Given the description of an element on the screen output the (x, y) to click on. 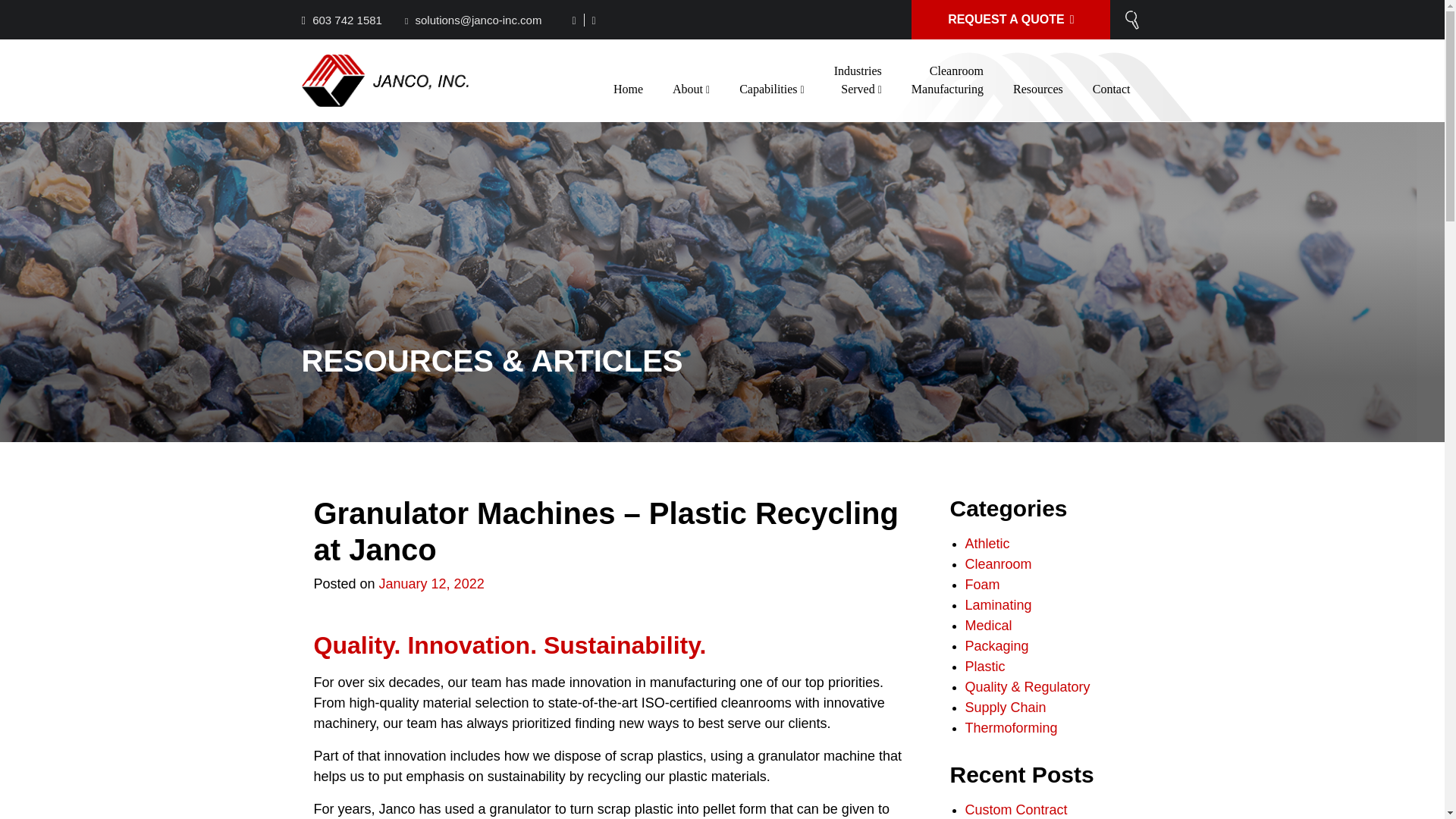
REQUEST A QUOTE (1010, 19)
603 742 1581 (351, 19)
